Given the description of an element on the screen output the (x, y) to click on. 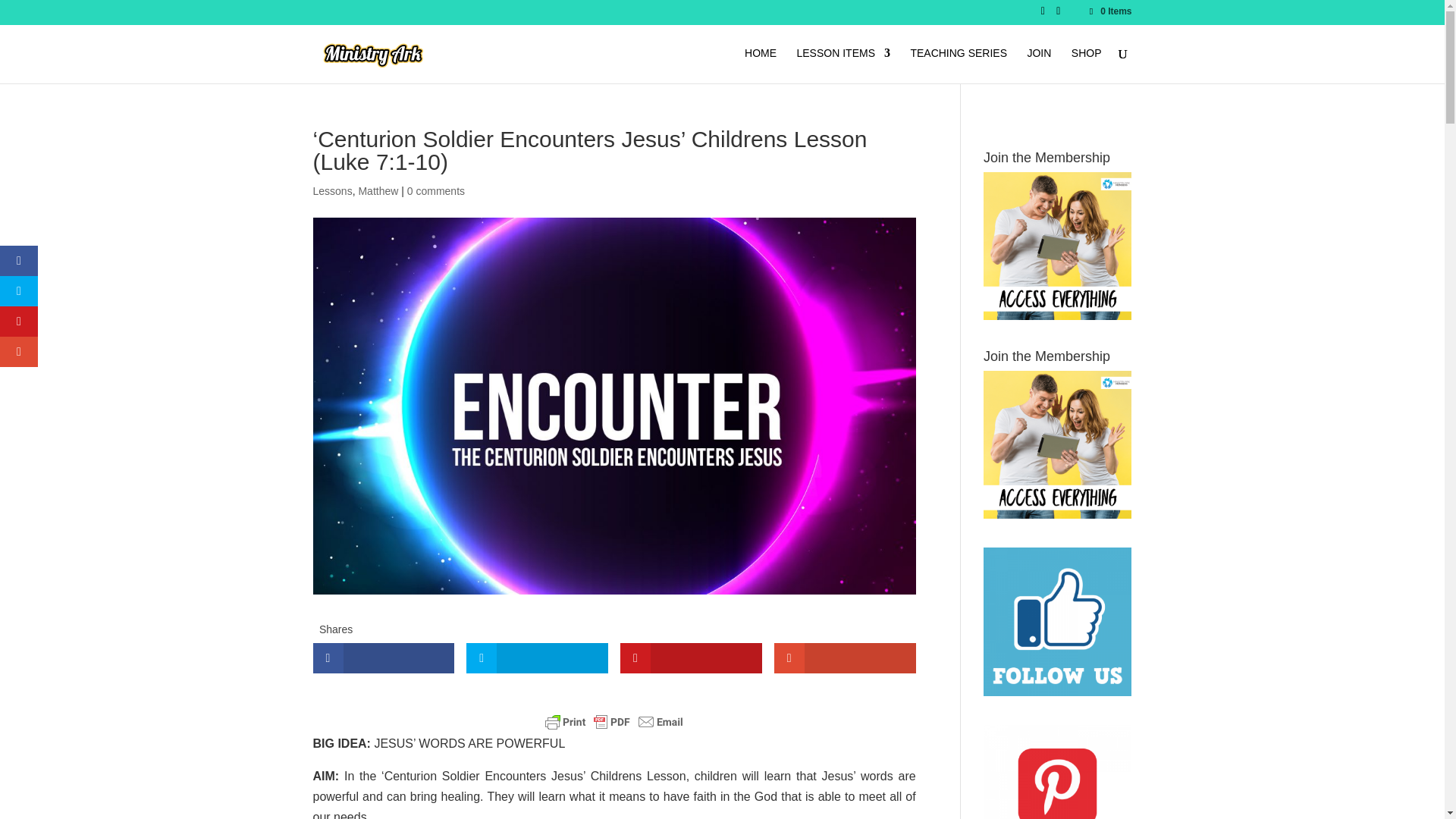
Matthew (377, 191)
0 Items (1108, 10)
TEACHING SERIES (958, 65)
Lessons (332, 191)
0 comments (435, 191)
LESSON ITEMS (842, 65)
HOME (760, 65)
